Given the description of an element on the screen output the (x, y) to click on. 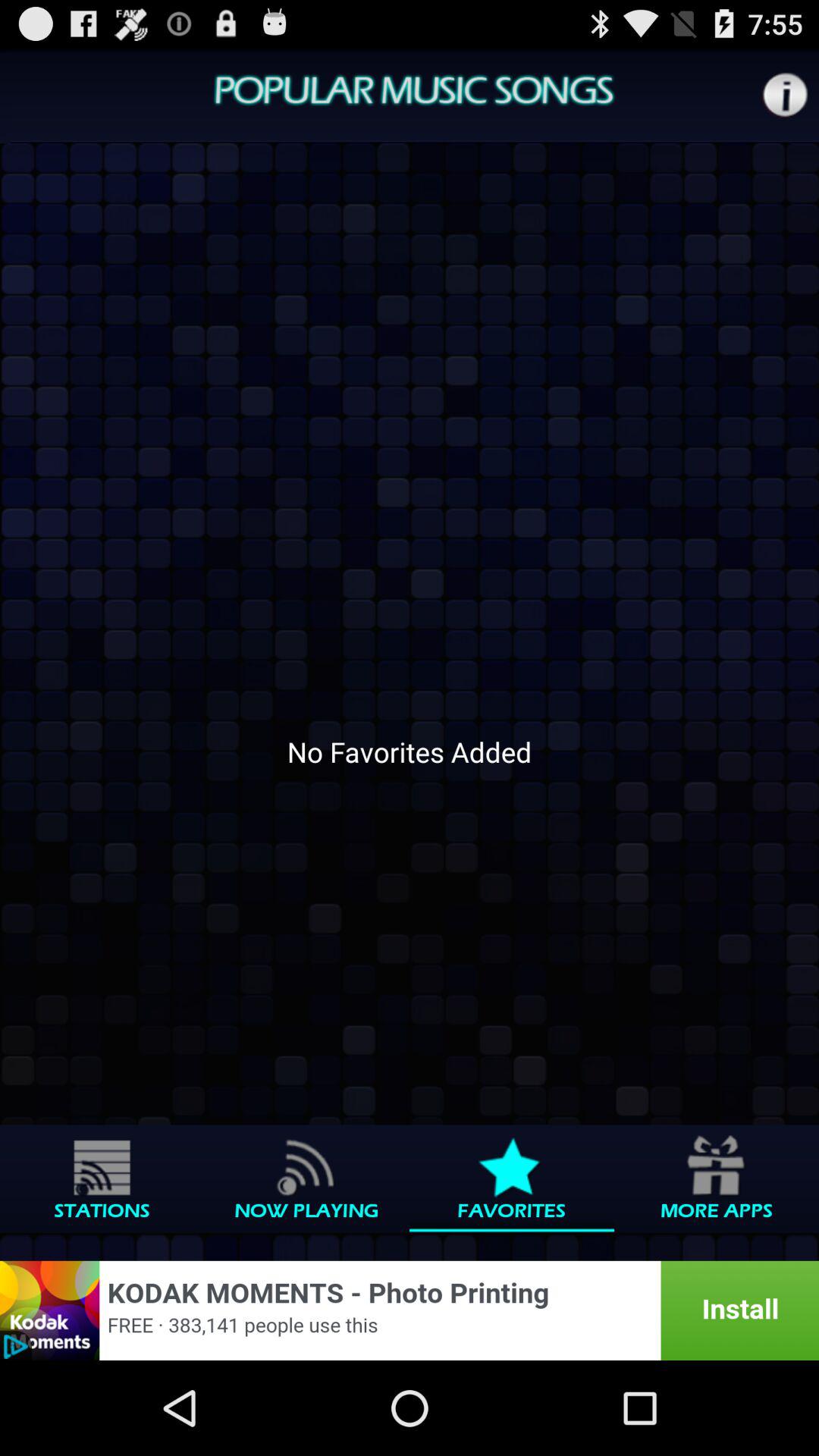
open advertisement (409, 1310)
